Given the description of an element on the screen output the (x, y) to click on. 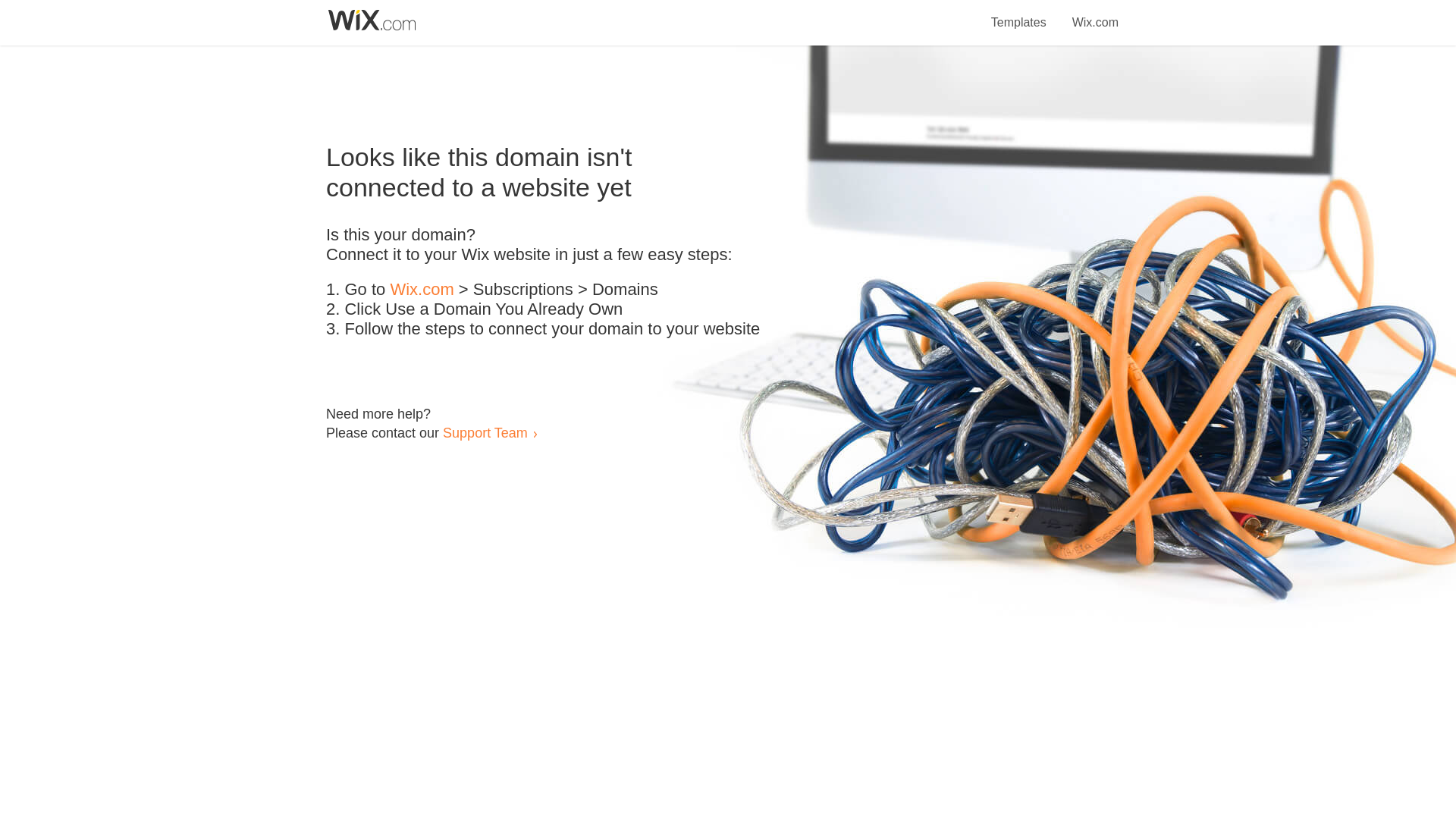
Templates (1018, 14)
Wix.com (1095, 14)
Support Team (484, 432)
Wix.com (421, 289)
